Given the description of an element on the screen output the (x, y) to click on. 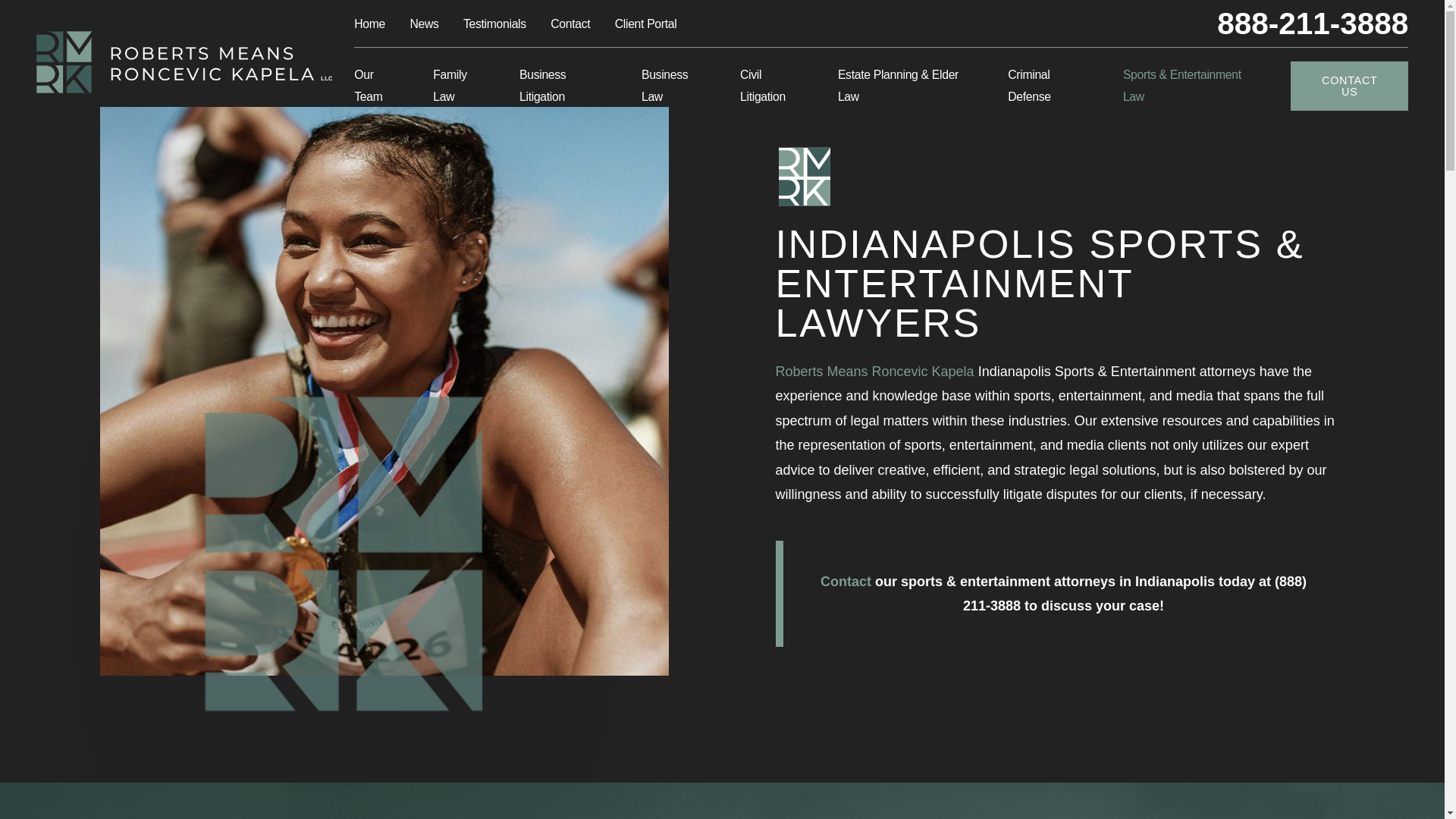
Testimonials (494, 23)
Client Portal (645, 23)
Home (369, 23)
Roberts Means Roncevic Kapela LLC (183, 62)
Home (183, 62)
Family Law (460, 85)
Our Team (378, 85)
Contact (569, 23)
News (423, 23)
888-211-3888 (1312, 23)
